Given the description of an element on the screen output the (x, y) to click on. 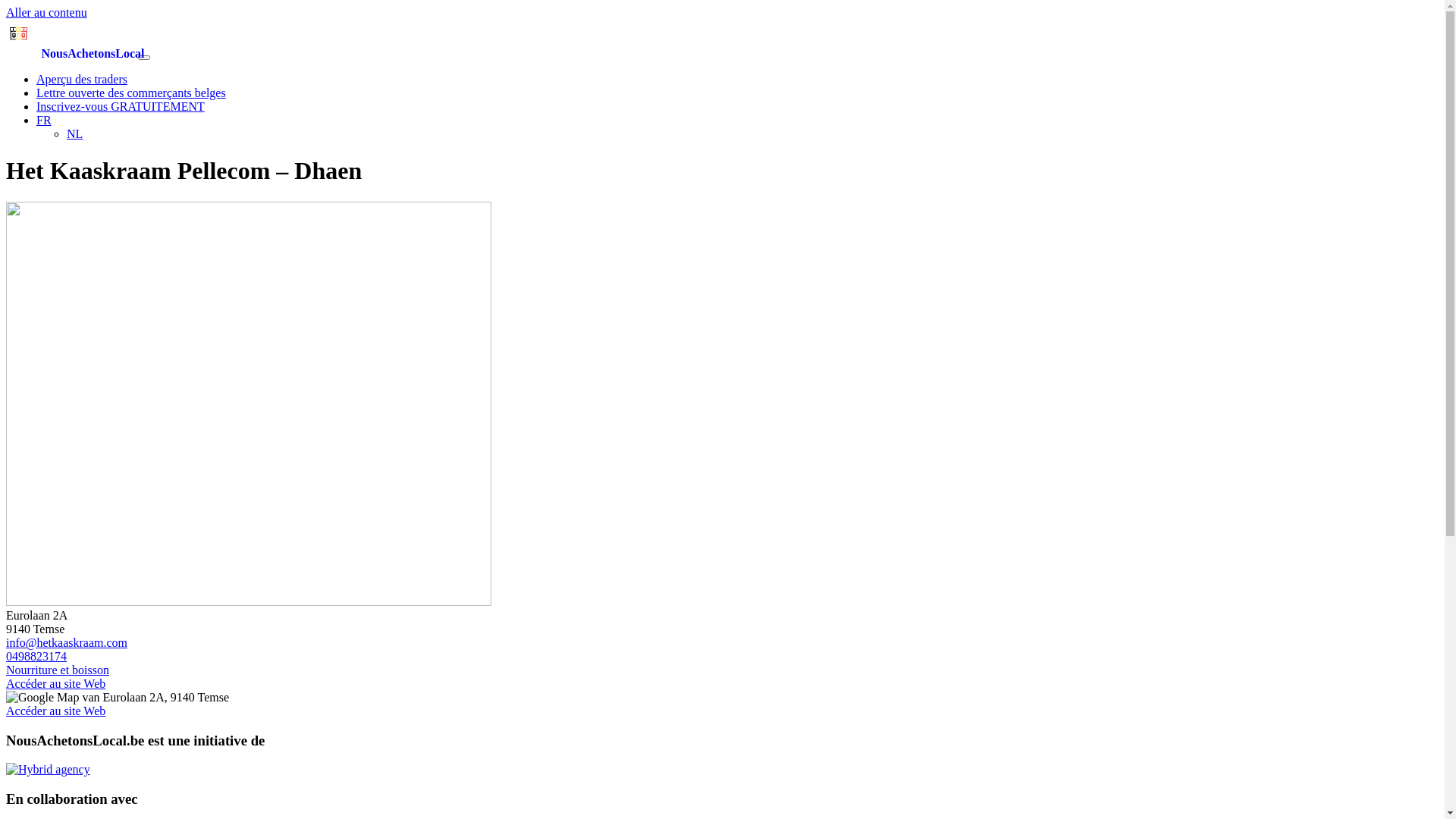
Aller au contenu Element type: text (46, 12)
Nourriture et boisson Element type: text (57, 669)
info@hetkaaskraam.com Element type: text (66, 642)
Inscrivez-vous GRATUITEMENT Element type: text (120, 106)
FR Element type: text (43, 119)
NousAchetonsLocal Element type: text (70, 53)
NL Element type: text (74, 133)
0498823174 Element type: text (36, 655)
